Given the description of an element on the screen output the (x, y) to click on. 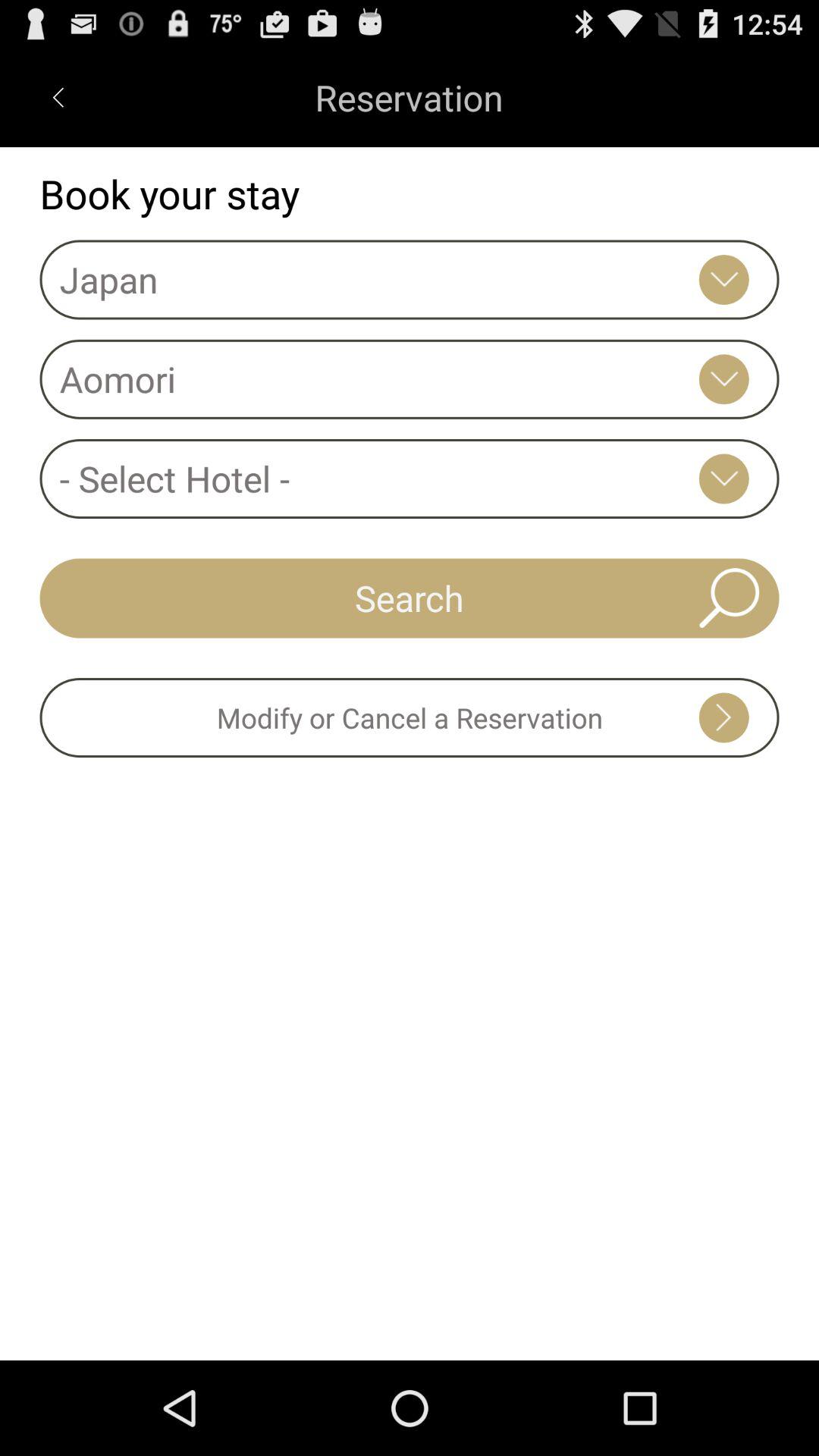
turn off search button (409, 598)
